Given the description of an element on the screen output the (x, y) to click on. 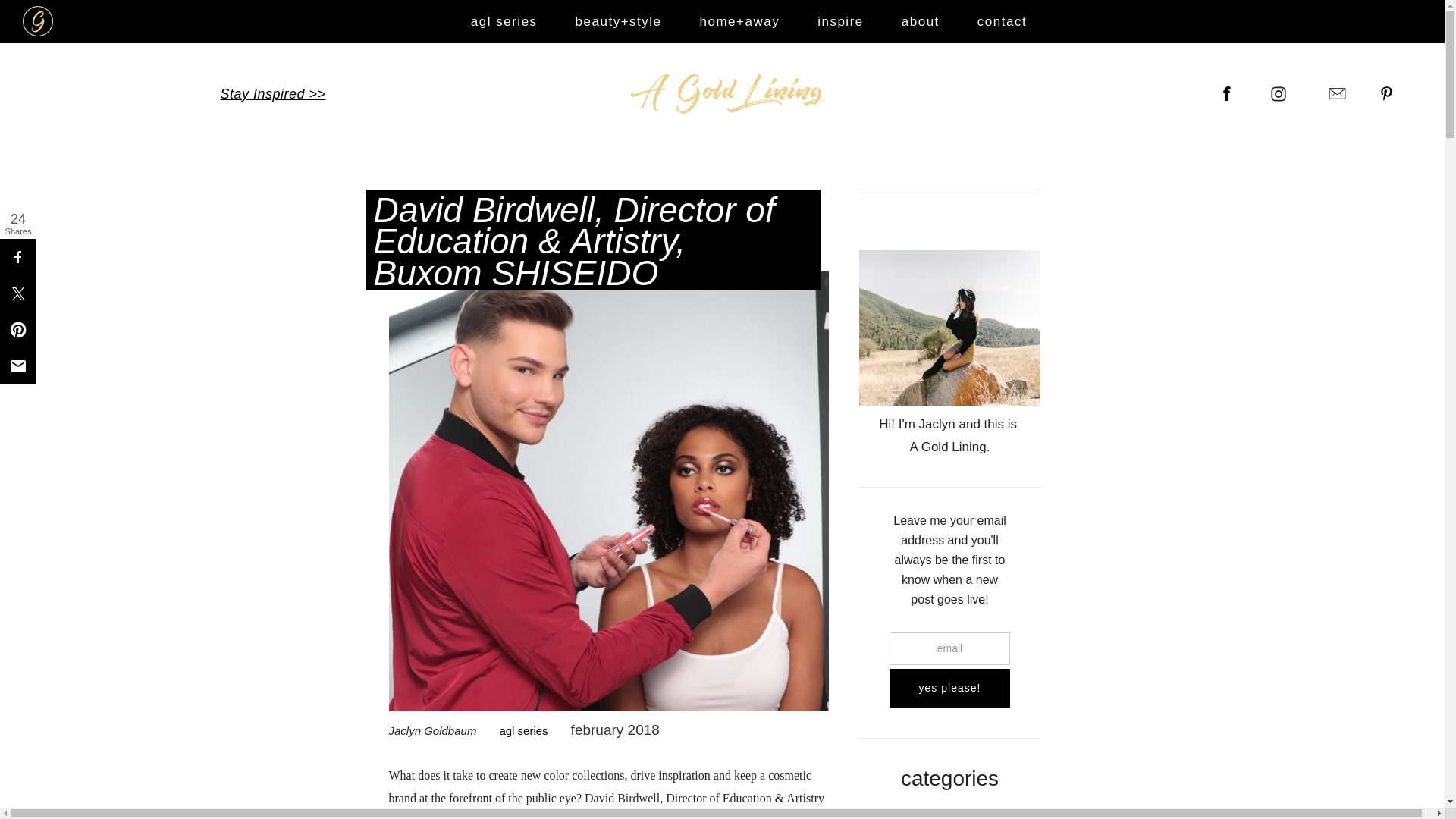
agl series (511, 730)
Buxom (621, 816)
Yes please! (949, 688)
about (920, 21)
Yes please! (949, 688)
agl series (503, 21)
contact (1001, 21)
Jaclyn Goldbaum (432, 730)
inspire (949, 816)
inspire (839, 21)
